Given the description of an element on the screen output the (x, y) to click on. 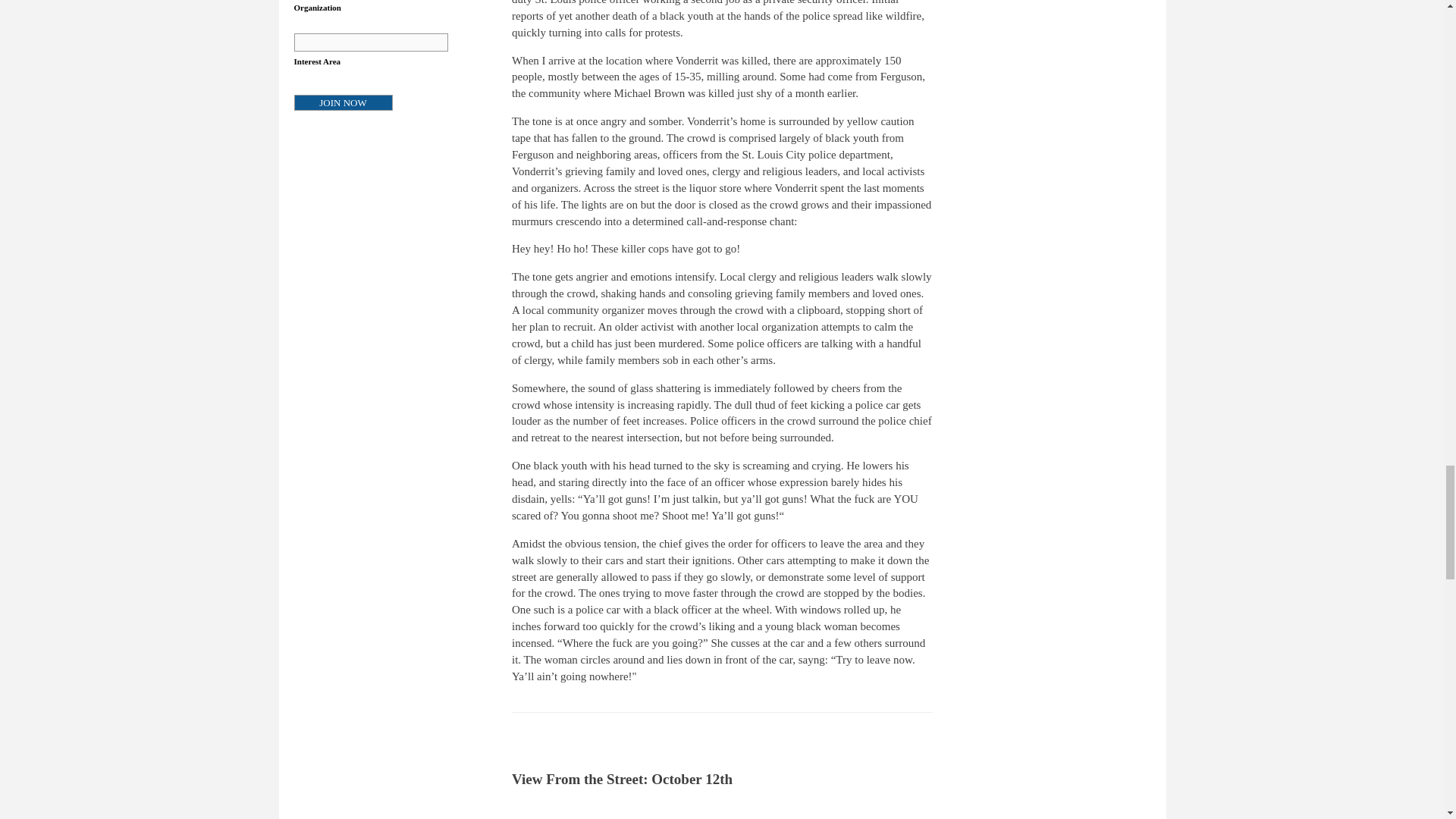
Join Now (343, 102)
